Given the description of an element on the screen output the (x, y) to click on. 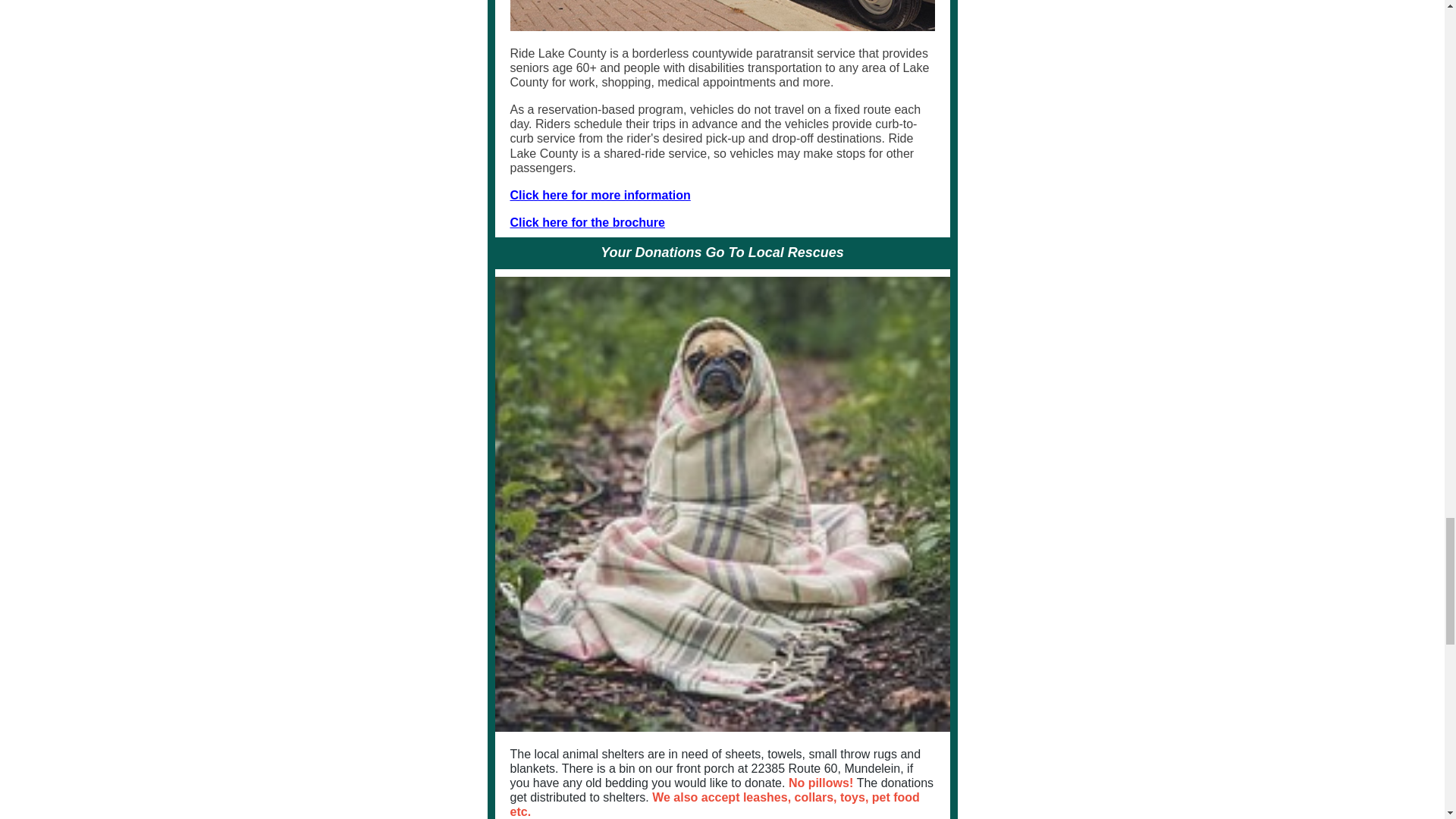
Click here for more information (599, 195)
Click here for the brochure (587, 222)
